Given the description of an element on the screen output the (x, y) to click on. 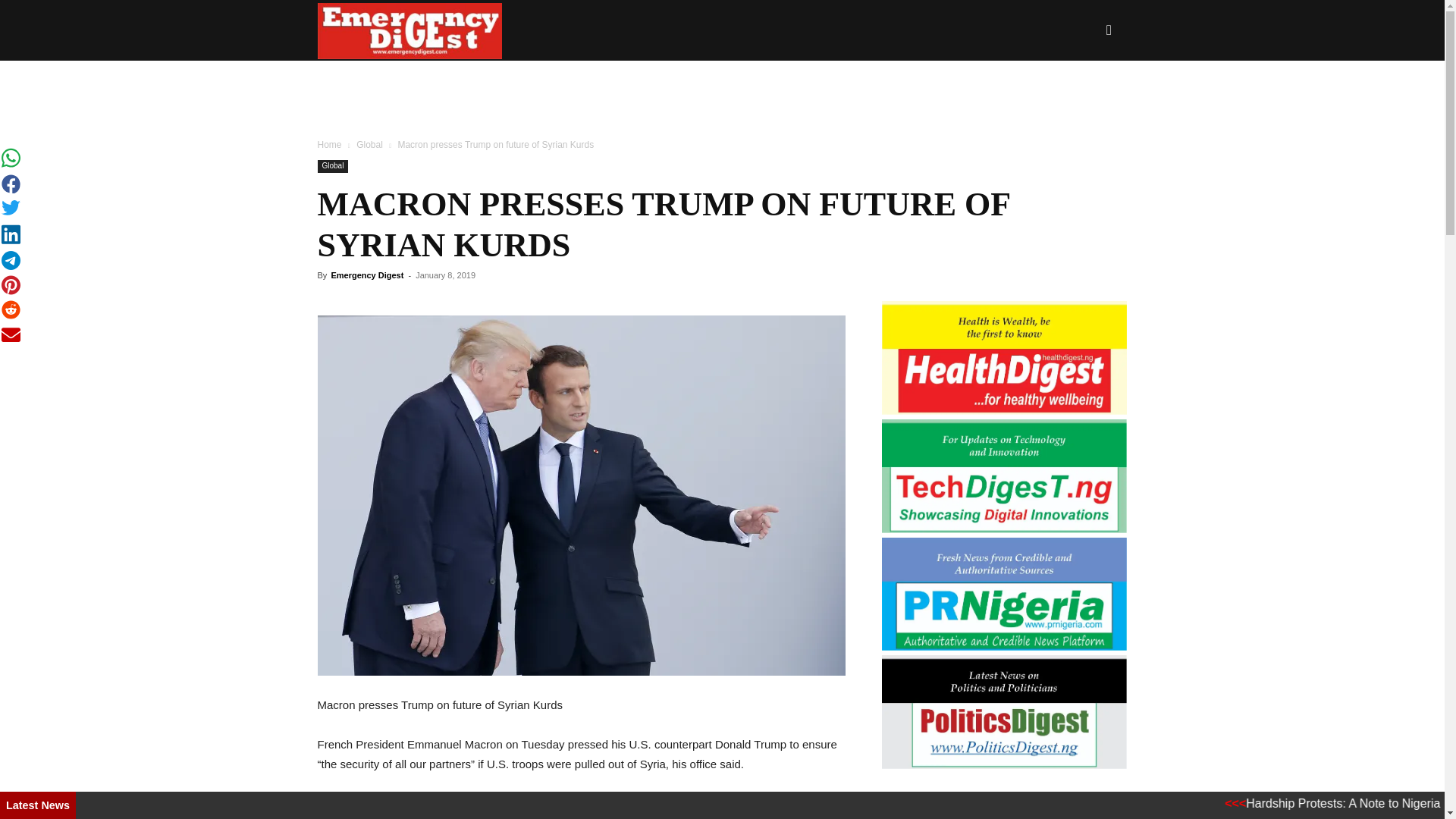
PROFILES (690, 90)
Emergency Digest (366, 275)
Global (369, 144)
topFacebookLike (430, 302)
Emergency Digest (409, 30)
NEWS (617, 90)
View all posts in Global (369, 144)
Search (1085, 102)
GLOBAL (869, 90)
Global (332, 165)
Home (328, 144)
FEATURED (1038, 90)
COMMENTS (782, 90)
PROFILE (947, 90)
